Given the description of an element on the screen output the (x, y) to click on. 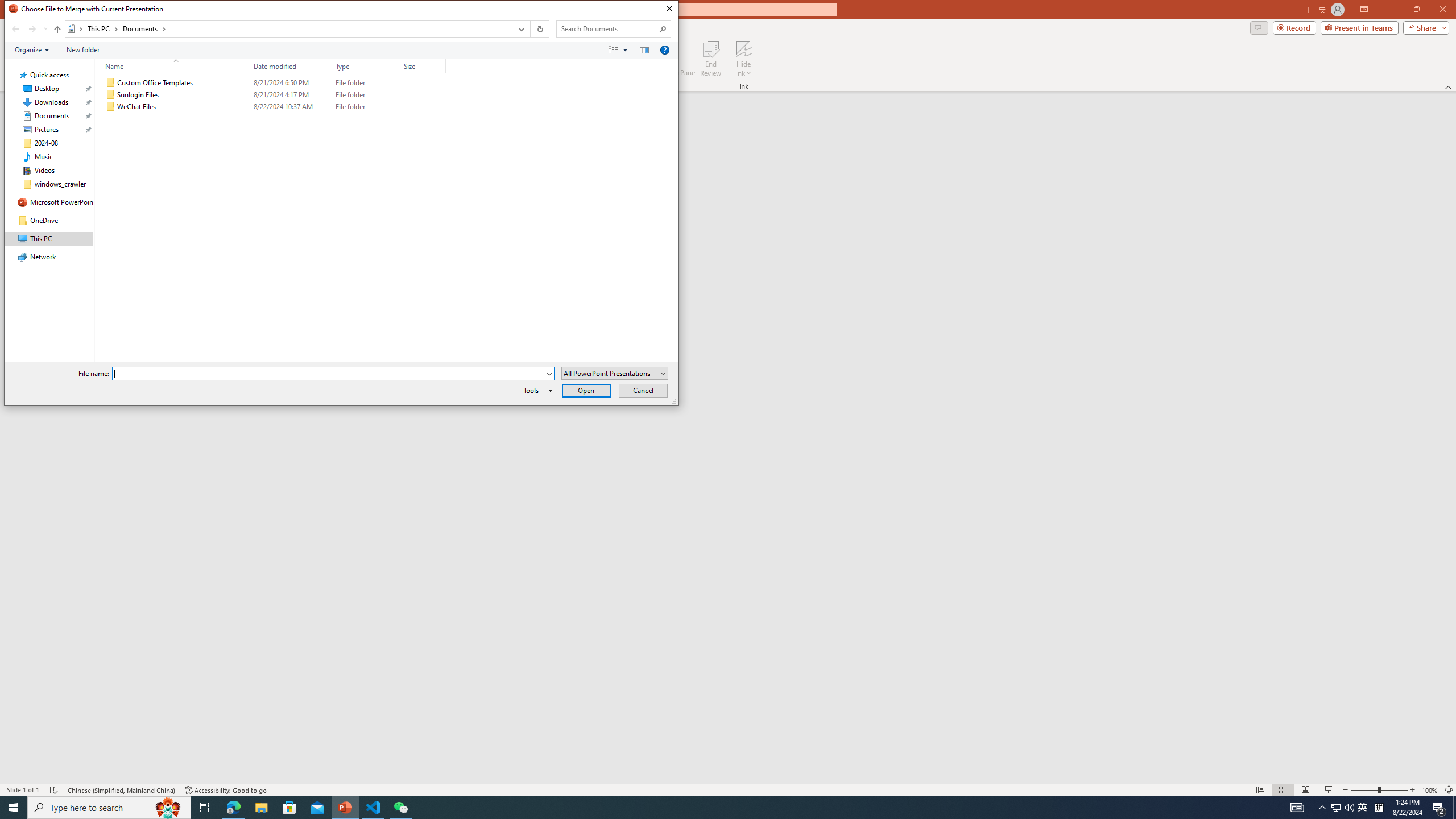
Running applications (707, 807)
Hide Ink (743, 58)
Address band toolbar (529, 28)
Zoom 100% (1430, 790)
Notification Chevron (1322, 807)
Visual Studio Code - 1 running window (373, 807)
This PC (102, 28)
Cancel (643, 390)
Search Box (607, 28)
Files of type: (615, 373)
User Promoted Notification Area (1342, 807)
Documents (144, 28)
Up to "This PC" (Alt + Up Arrow) (57, 29)
Start (13, 807)
Navigation buttons (28, 28)
